Given the description of an element on the screen output the (x, y) to click on. 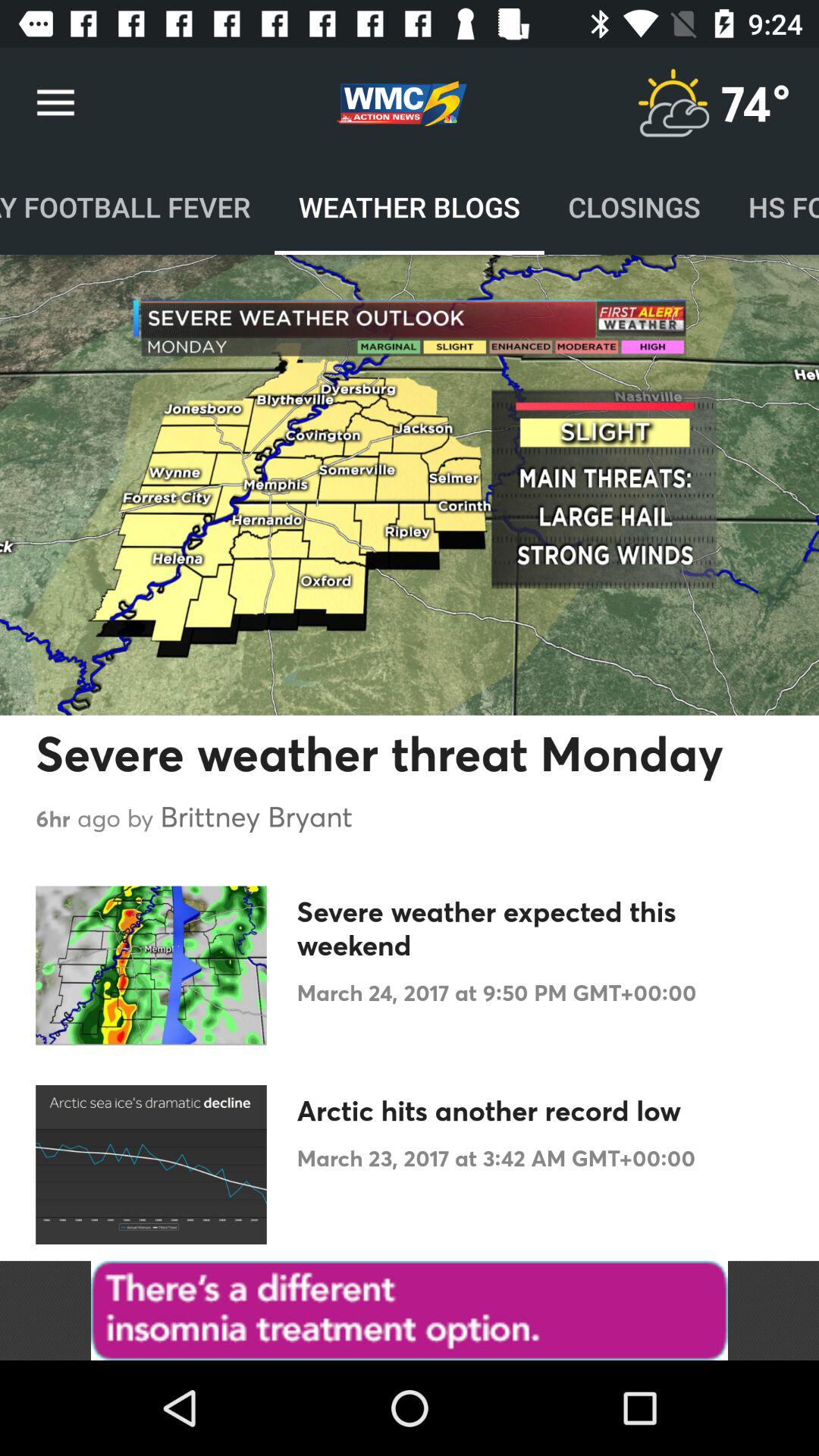
go to advertising site (409, 1310)
